Given the description of an element on the screen output the (x, y) to click on. 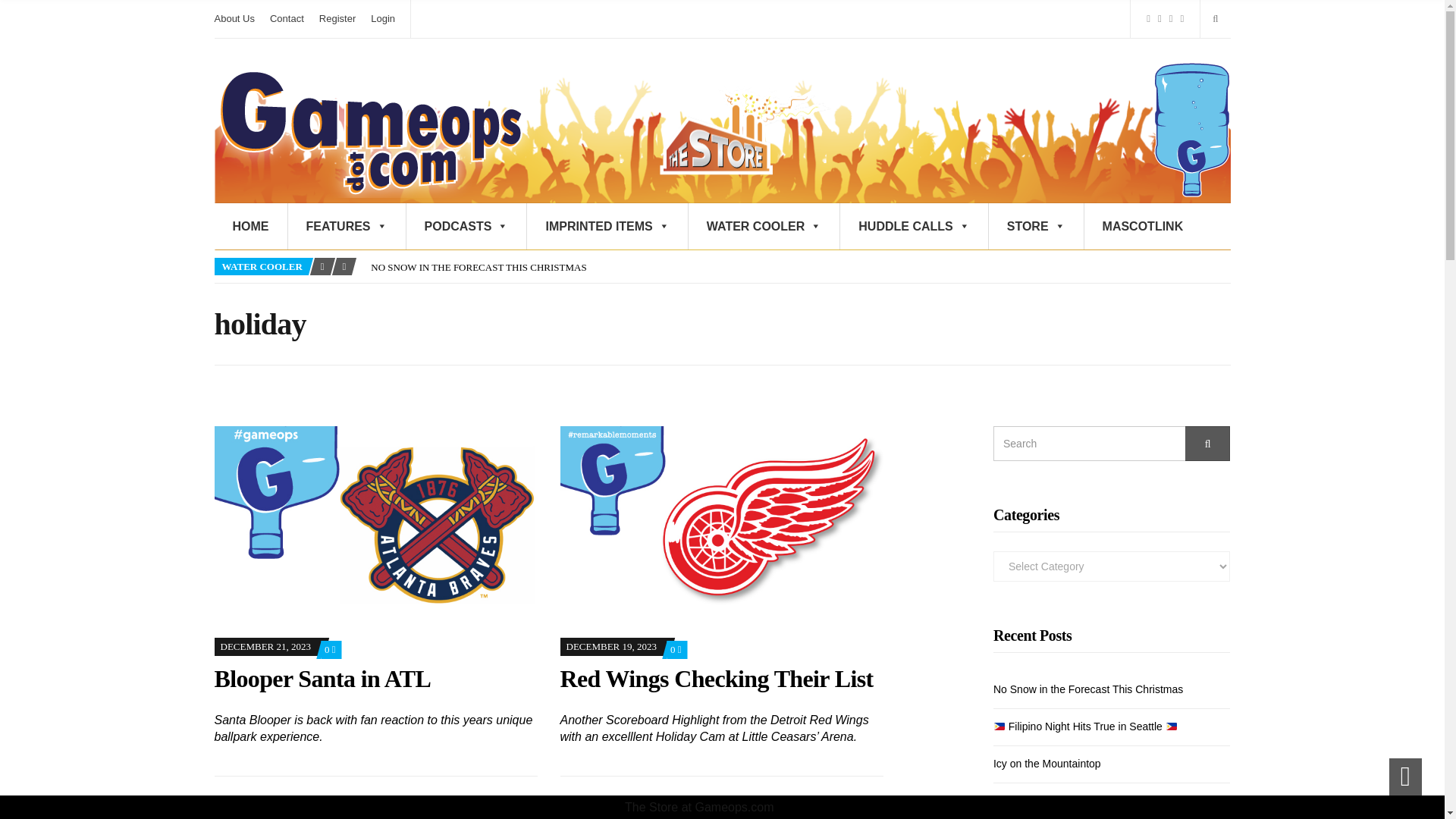
The Store (740, 128)
Water Cooler (1190, 128)
About Us (233, 18)
Register (336, 18)
HOME (250, 226)
FEATURES (347, 226)
PODCASTS (466, 226)
Contact (286, 18)
Login (382, 18)
